Given the description of an element on the screen output the (x, y) to click on. 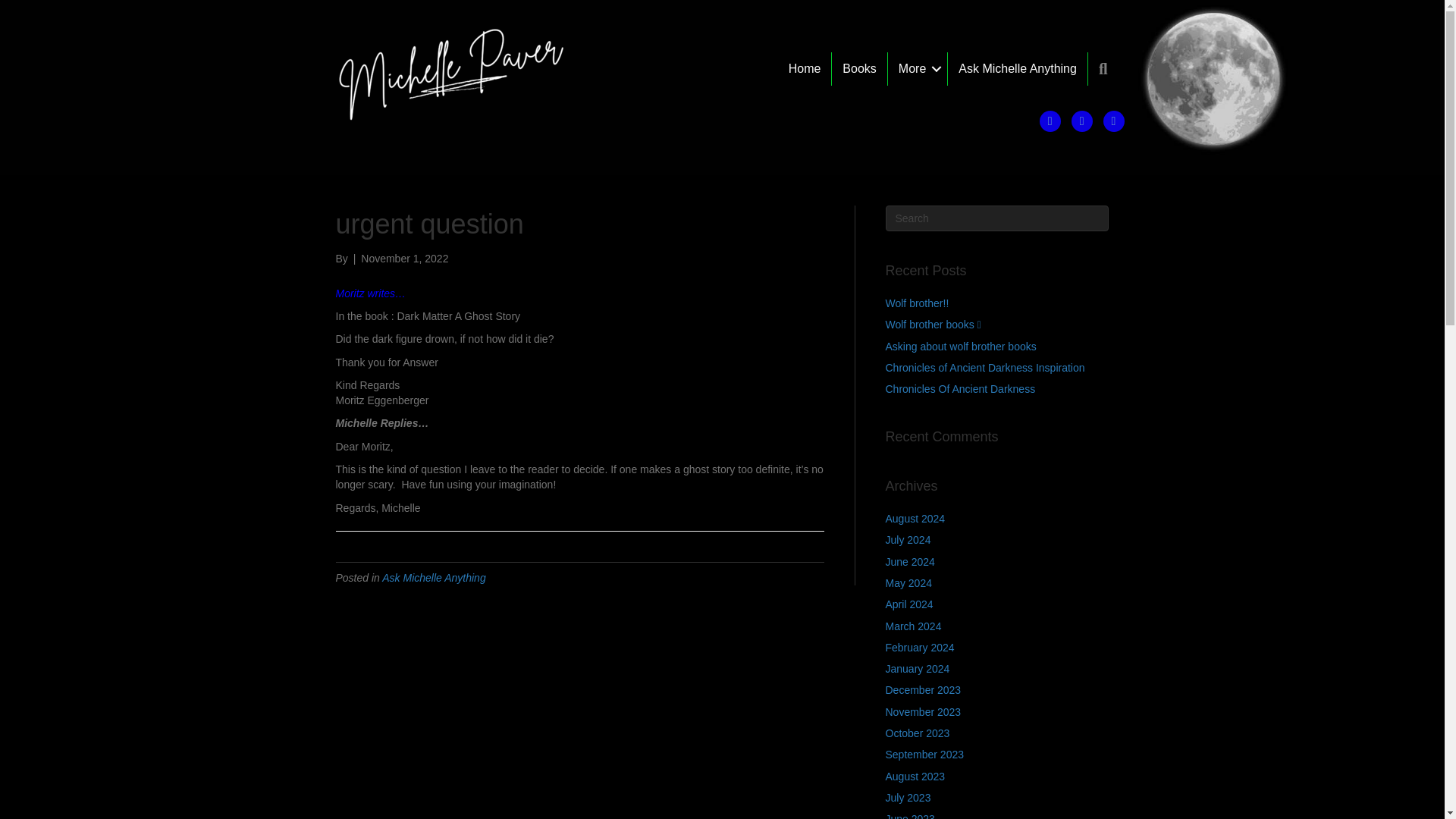
January 2024 (917, 668)
October 2023 (917, 733)
More (917, 68)
Chronicles of Ancient Darkness Inspiration (984, 367)
April 2024 (909, 604)
February 2024 (920, 647)
September 2023 (924, 754)
July 2024 (908, 539)
Ask Michelle Anything (432, 577)
Home (804, 68)
